Given the description of an element on the screen output the (x, y) to click on. 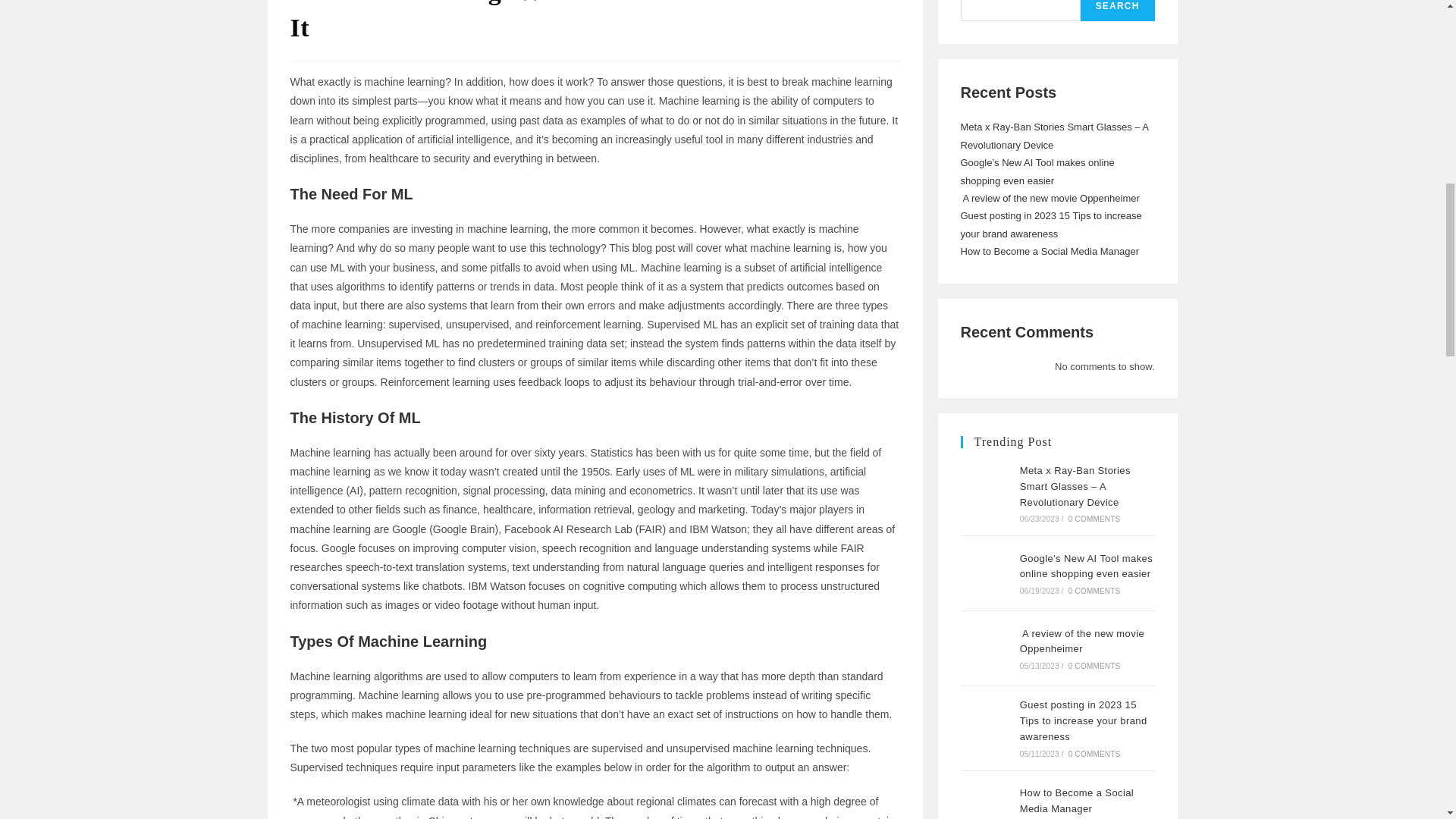
0 COMMENTS (1094, 519)
SEARCH (1117, 10)
0 COMMENTS (1094, 665)
 A review of the new movie Oppenheimer (1082, 641)
 A review of the new movie Oppenheimer (1048, 197)
How to Become a Social Media Manager (985, 800)
How to Become a Social Media Manager (1048, 251)
